Given the description of an element on the screen output the (x, y) to click on. 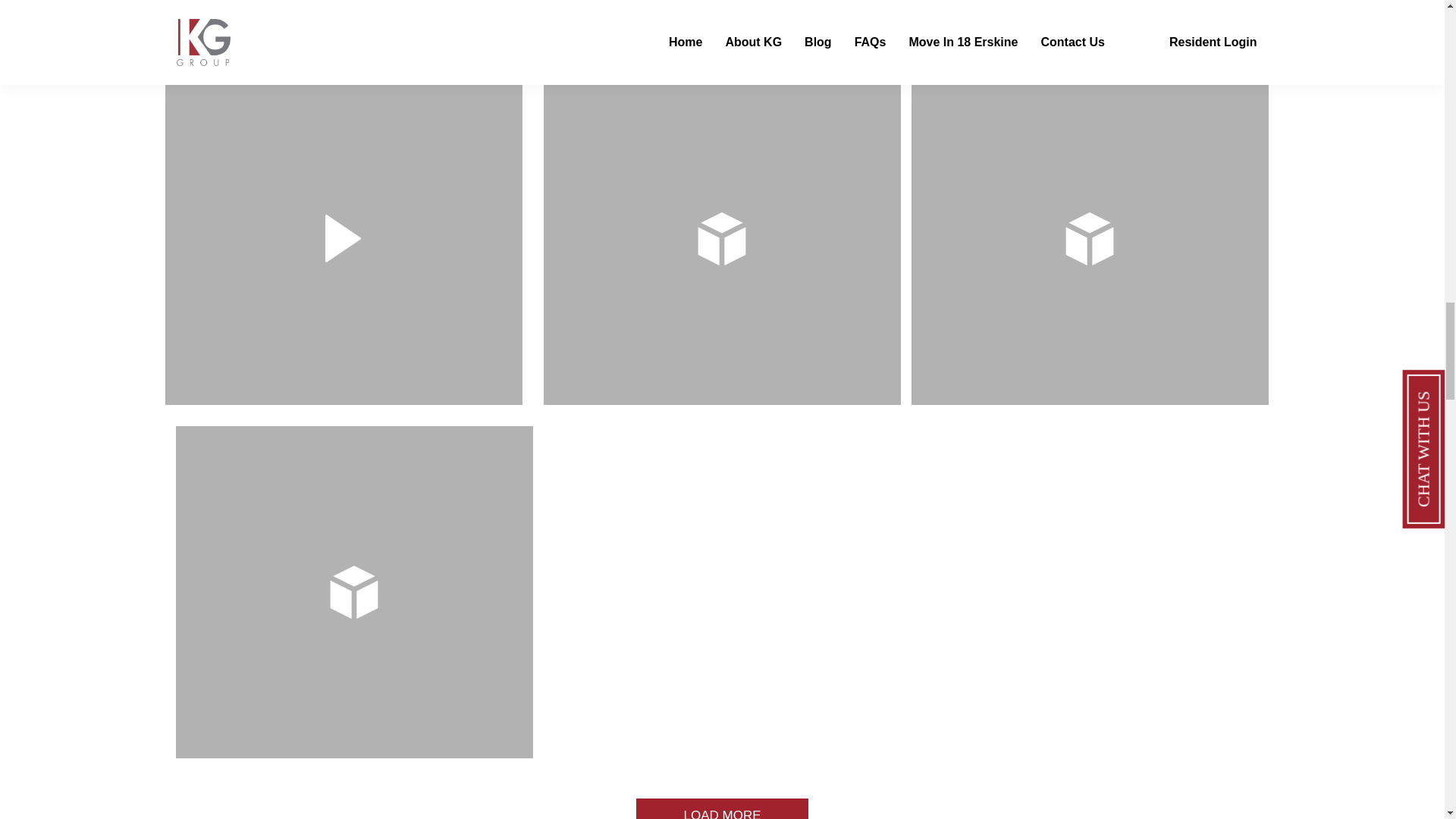
LOAD MORE (722, 808)
Gallery Video (343, 238)
Gallery Virtual Tour (1089, 238)
Gallery Photo (732, 591)
Gallery Virtual Tour (354, 591)
